Given the description of an element on the screen output the (x, y) to click on. 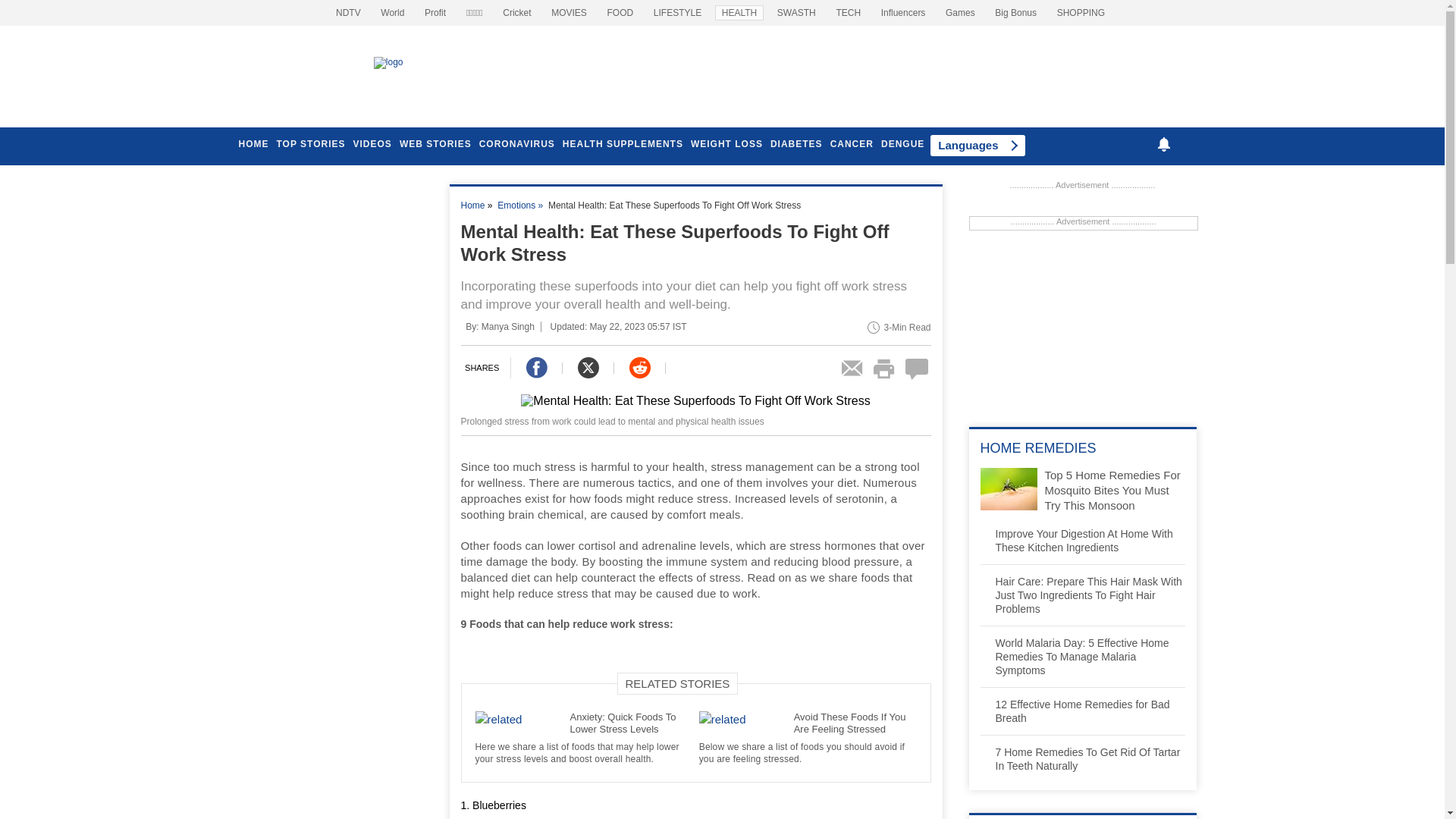
NDTV (796, 12)
Mental Health: Eat These Superfoods To Fight Off Work Stress (695, 404)
NDTV (348, 12)
NDTV (434, 12)
TOP STORIES (310, 144)
VIDEOS (372, 144)
TECH (847, 12)
NDTV (569, 12)
DIABETES (796, 144)
SWASTH (796, 12)
